Given the description of an element on the screen output the (x, y) to click on. 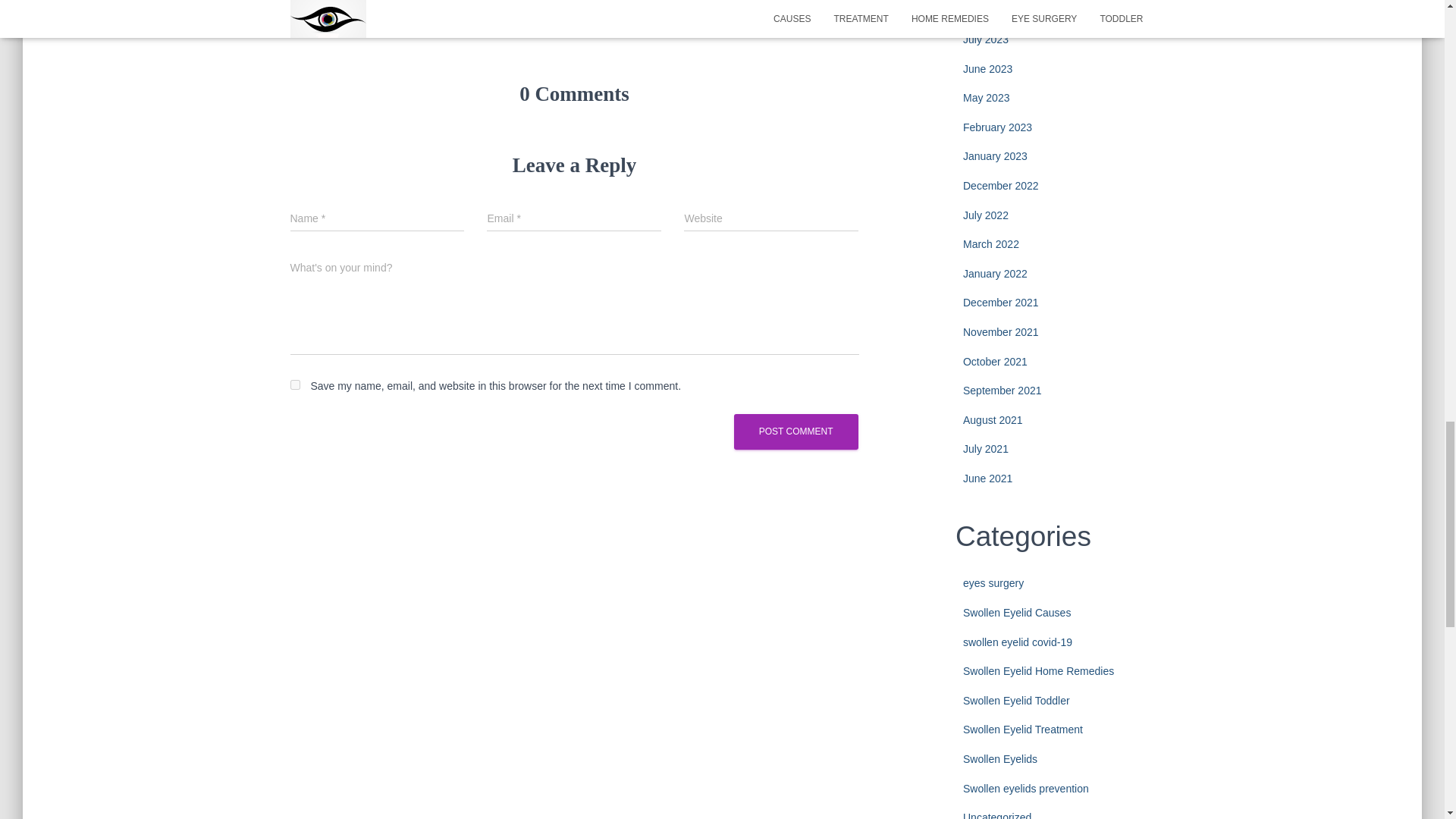
May 2023 (985, 97)
Post Comment (796, 431)
February 2023 (997, 127)
January 2023 (994, 155)
June 2023 (986, 69)
yes (294, 384)
August 2023 (992, 9)
Post Comment (796, 431)
December 2022 (1000, 185)
July 2023 (985, 39)
